Given the description of an element on the screen output the (x, y) to click on. 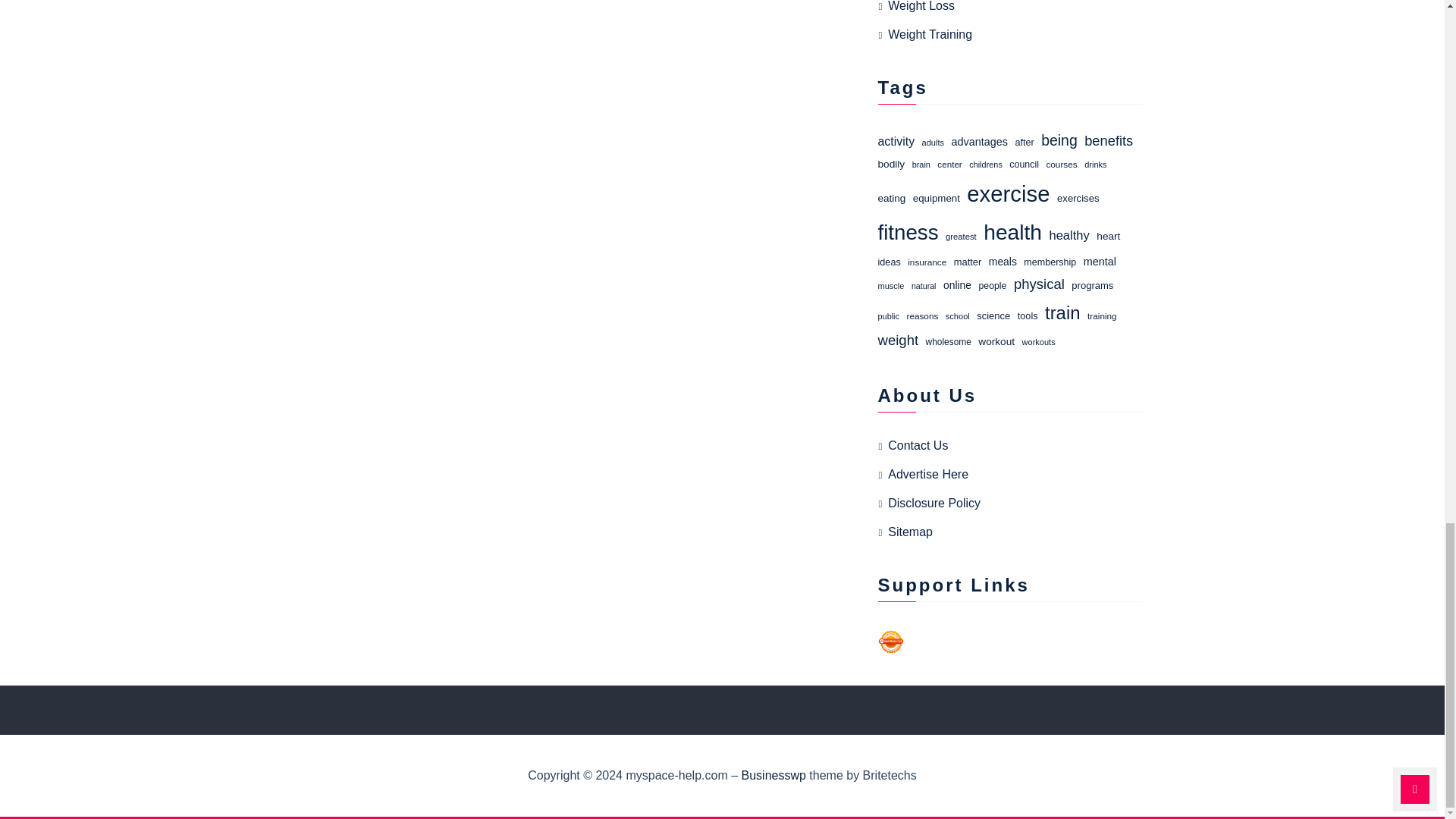
Seedbacklink (890, 641)
